Given the description of an element on the screen output the (x, y) to click on. 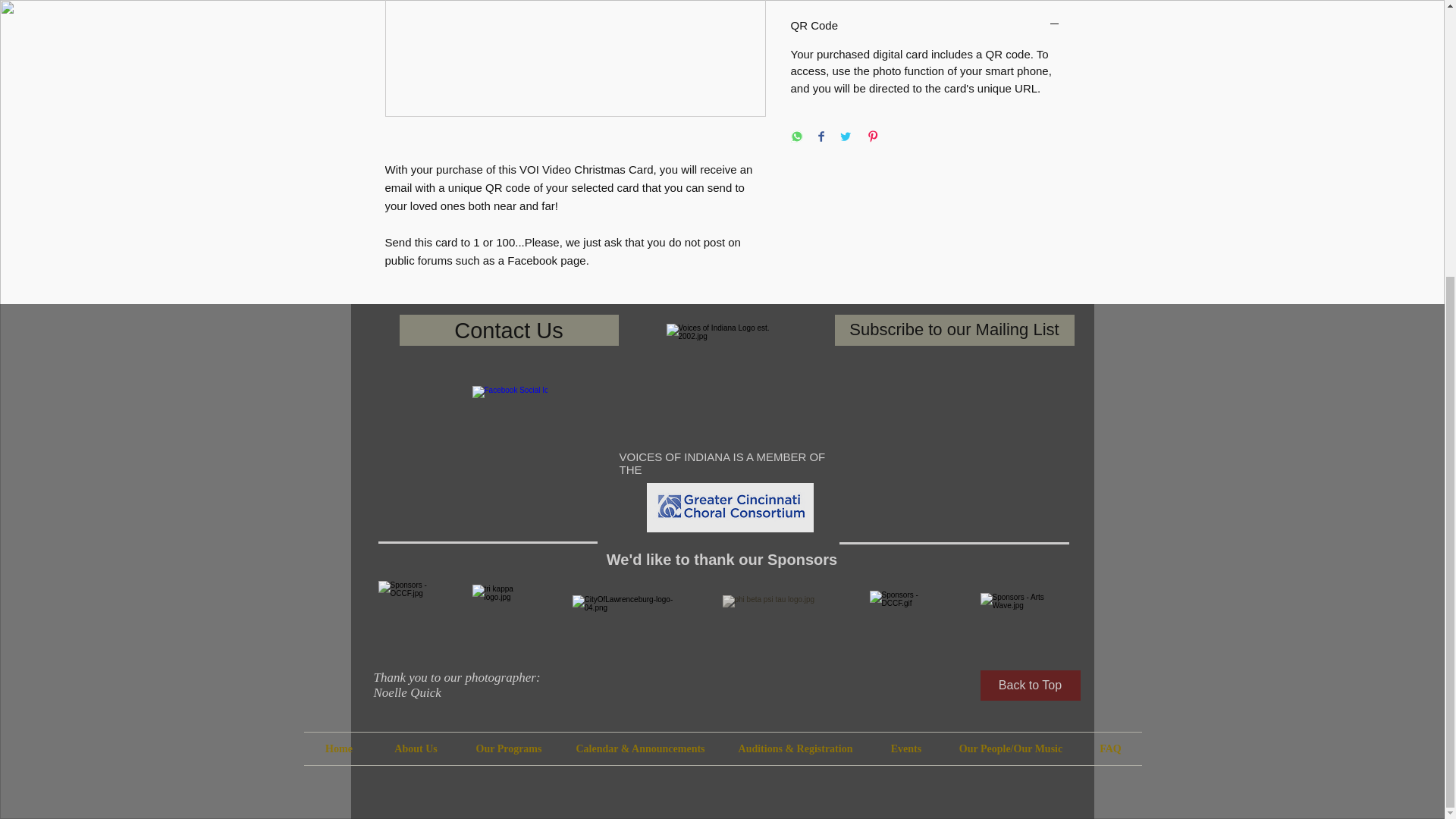
About Us (416, 748)
Subscribe to our Mailing List (954, 329)
Home (338, 748)
FAQ (1110, 748)
Our Programs (509, 748)
Back to Top (1029, 685)
Contact Us (507, 329)
QR Code (924, 25)
Events (906, 748)
